Given the description of an element on the screen output the (x, y) to click on. 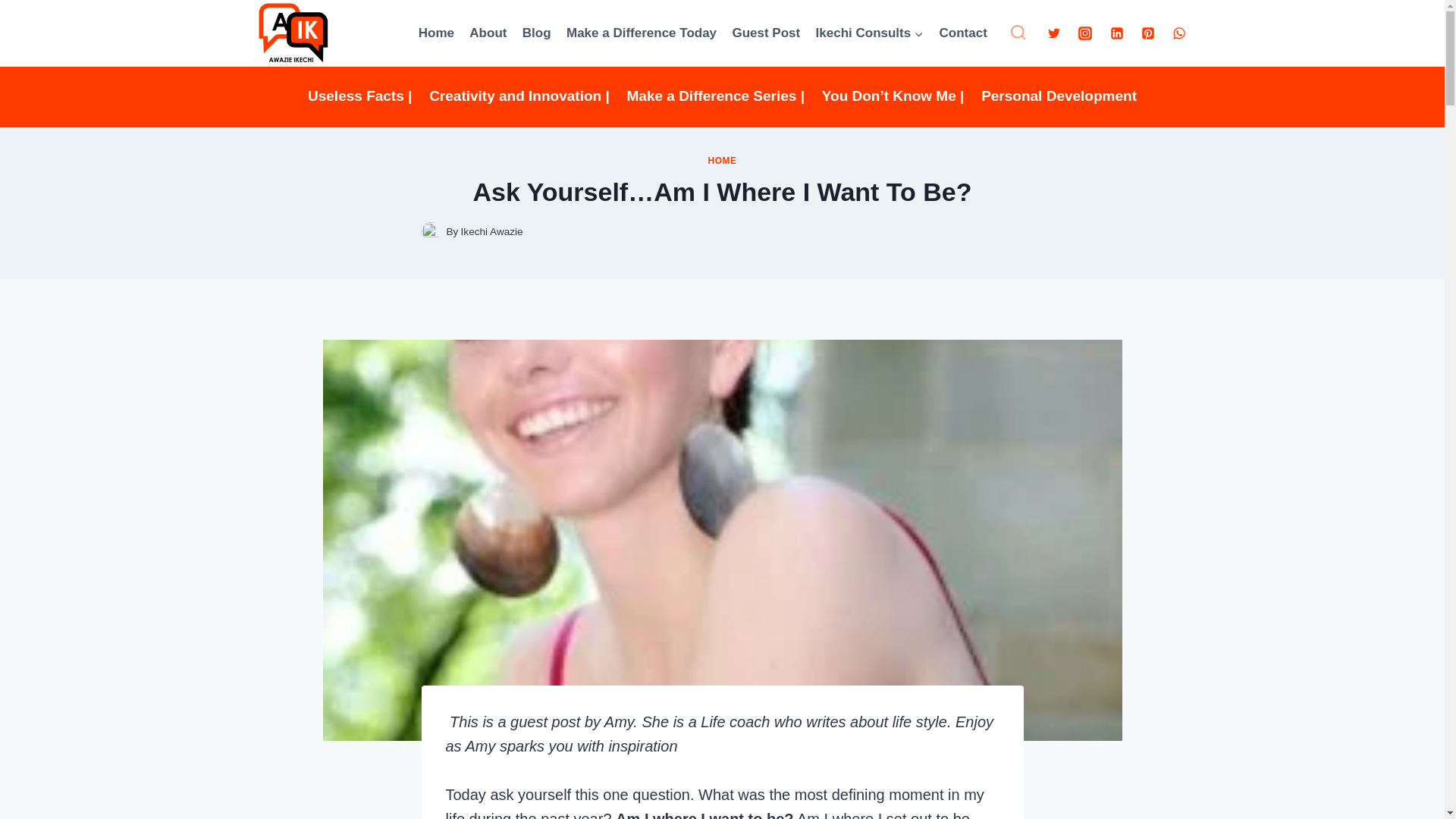
Make a Difference Today (641, 33)
Blog (537, 33)
Guest Post (765, 33)
Personal Development (1058, 96)
Do You Know Me (487, 33)
Ikechi Awazie (491, 231)
About (487, 33)
Ikechi Consults (869, 33)
HOME (721, 160)
Give Me A Holla (962, 33)
